Given the description of an element on the screen output the (x, y) to click on. 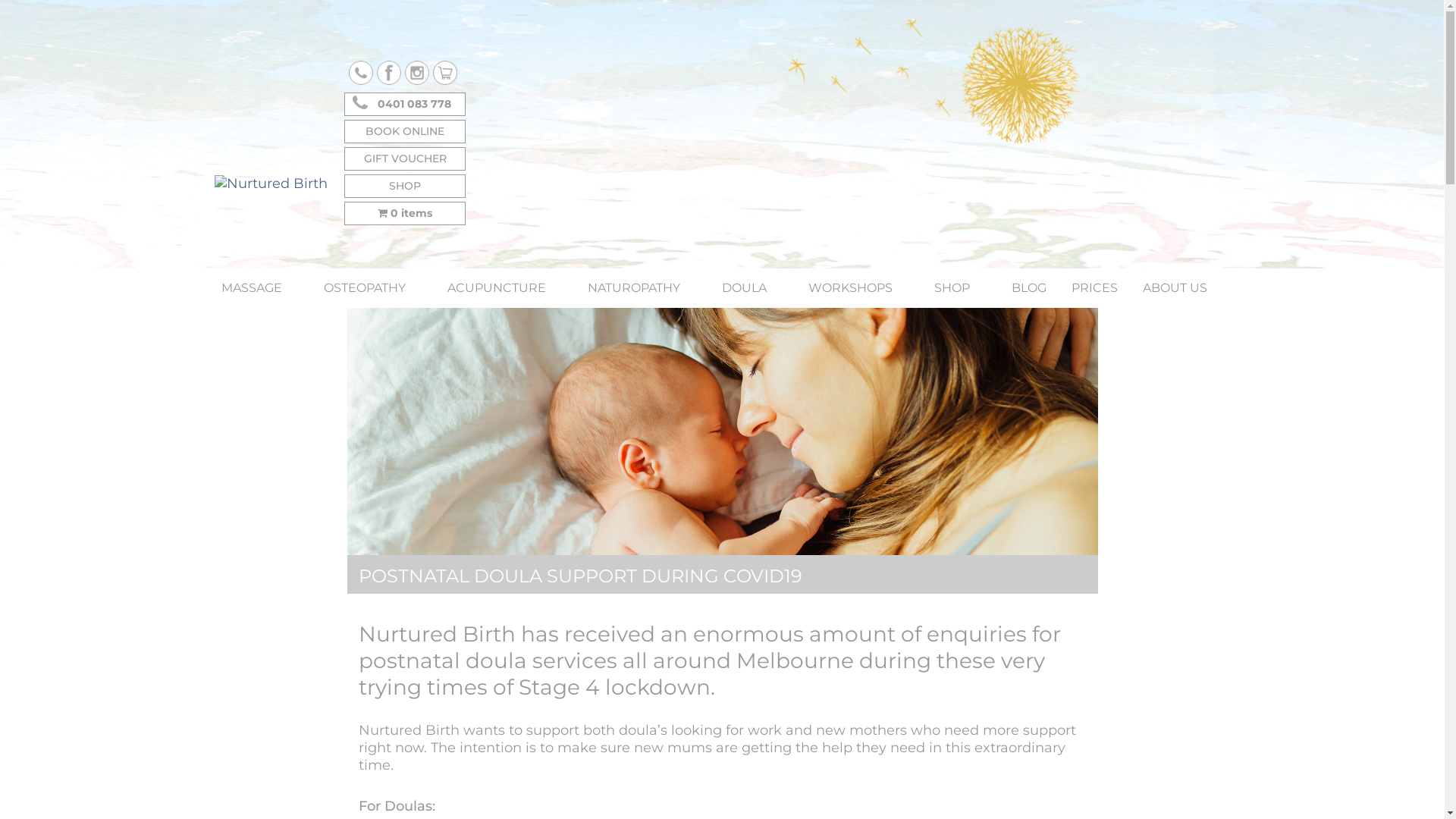
0 items Element type: text (404, 213)
ABOUT US Element type: text (1182, 287)
SHOP Element type: text (404, 185)
GIFT VOUCHER Element type: text (404, 158)
OSTEOPATHY Element type: text (372, 287)
0401 083 778 Element type: text (404, 104)
DOULA Element type: text (752, 287)
WORKSHOPS Element type: text (858, 287)
ACUPUNCTURE Element type: text (504, 287)
PRICES Element type: text (1093, 287)
NATUROPATHY Element type: text (641, 287)
BLOG Element type: text (1029, 287)
Osteopathy_postnatal Element type: hover (722, 432)
BOOK ONLINE Element type: text (404, 131)
SHOP Element type: text (960, 287)
MASSAGE Element type: text (259, 287)
